Given the description of an element on the screen output the (x, y) to click on. 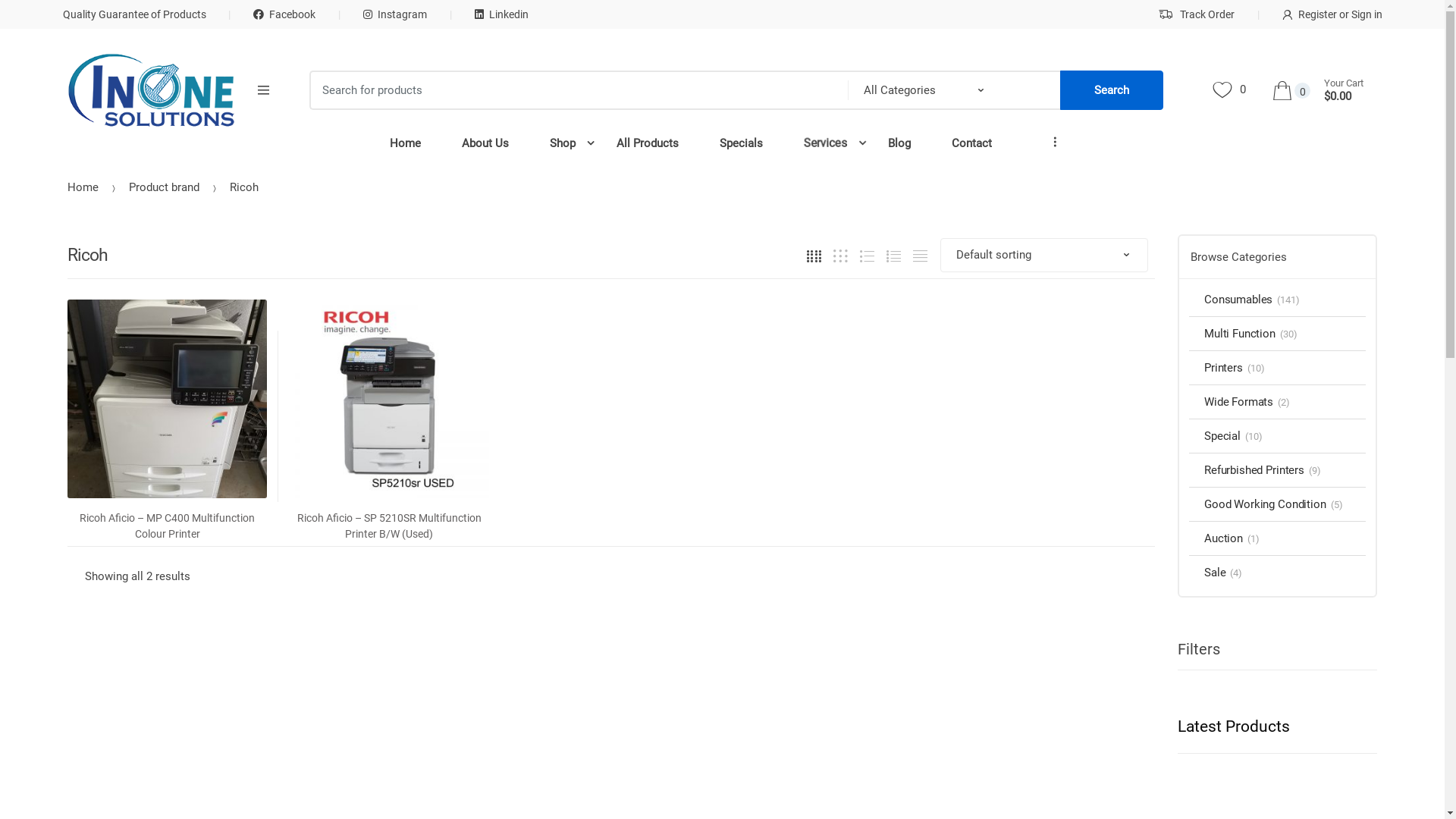
Blog Element type: text (899, 143)
Wide Formats Element type: text (1231, 401)
Multi Function Element type: text (1232, 333)
About Us Element type: text (484, 143)
0
Your Cart
$0.00 Element type: text (1324, 90)
Home Element type: text (404, 143)
Shop Element type: text (562, 143)
List View Small Element type: hover (919, 254)
Facebook Element type: text (261, 14)
Services Element type: text (824, 143)
Special Element type: text (1214, 435)
Track Order Element type: text (1196, 14)
Linkedin Element type: text (477, 14)
Consumables Element type: text (1230, 299)
Specials Element type: text (740, 143)
Home Element type: text (82, 187)
Auction Element type: text (1215, 538)
Sale Element type: text (1207, 572)
Printers Element type: text (1215, 367)
Good Working Condition Element type: text (1257, 503)
Quality Guarantee of Products Element type: text (133, 14)
Refurbished Printers Element type: text (1246, 469)
Contact Element type: text (971, 143)
All Products Element type: text (647, 143)
Grid Extended View Element type: hover (840, 254)
Grid View Element type: hover (813, 254)
Instagram Element type: text (370, 14)
Search Element type: text (1111, 89)
Register or Sign in Element type: text (1307, 14)
... Element type: text (1061, 128)
0 Element type: text (1228, 90)
List View Large Element type: hover (866, 254)
List View Element type: hover (893, 254)
